Given the description of an element on the screen output the (x, y) to click on. 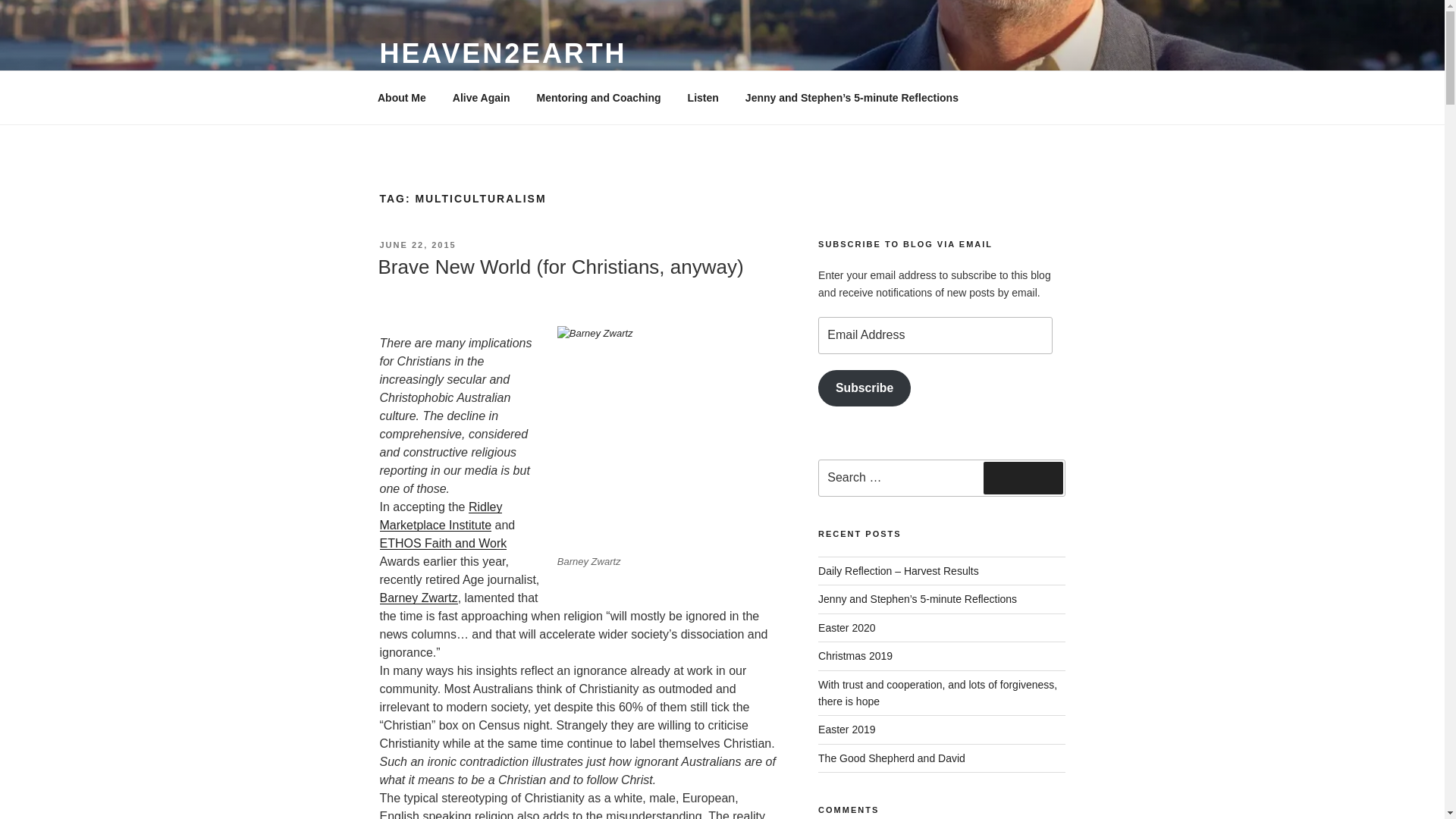
About Me (401, 97)
Ridley Marketplace Institute (440, 515)
HEAVEN2EARTH (502, 52)
Barney Zwartz (417, 597)
JUNE 22, 2015 (416, 244)
Listen (703, 97)
Alive Again (480, 97)
Mentoring and Coaching (598, 97)
ETHOS Faith and Work (442, 543)
